Given the description of an element on the screen output the (x, y) to click on. 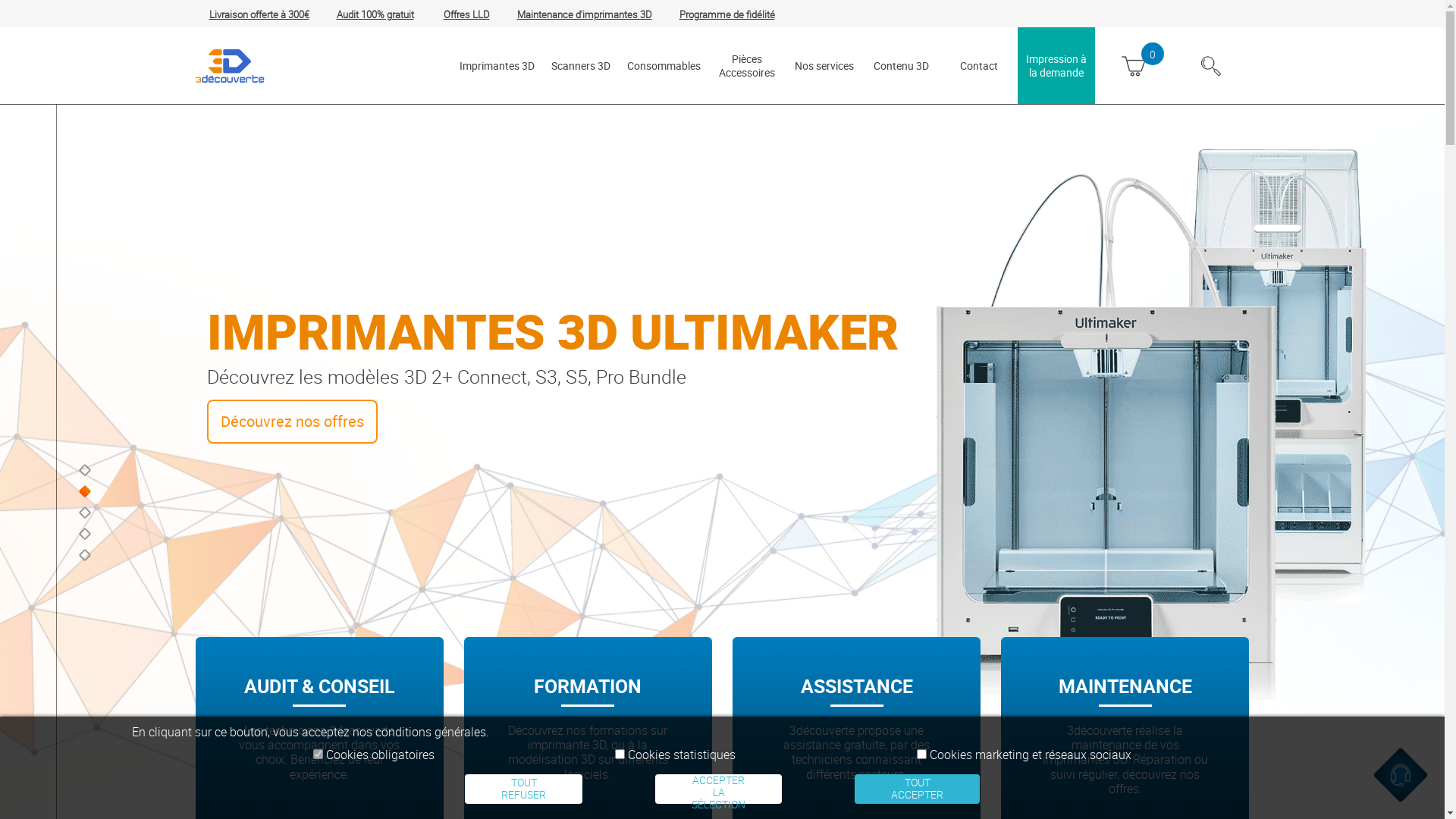
TOUT ACCEPTER Element type: text (916, 788)
Consommables Element type: text (662, 65)
Offres LLD Element type: text (465, 14)
Imprimantes 3D Element type: text (496, 65)
Maintenance d'imprimantes 3D Element type: text (584, 14)
Scanners 3D Element type: text (579, 65)
TOUT REFUSER Element type: text (523, 788)
Contact Element type: text (978, 65)
Audit 100% gratuit Element type: text (375, 14)
Nos services Element type: text (823, 65)
Contenu 3D Element type: text (901, 65)
